Given the description of an element on the screen output the (x, y) to click on. 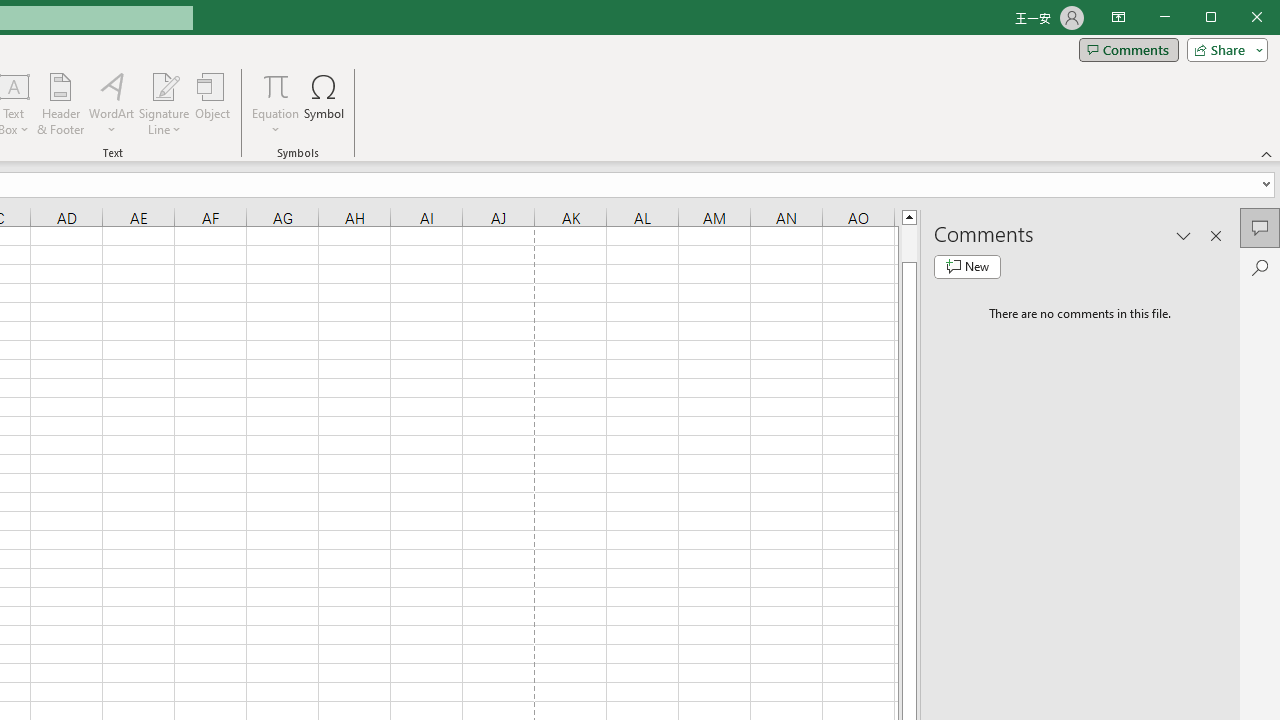
Equation (275, 86)
Collapse the Ribbon (1267, 154)
WordArt (111, 104)
Signature Line (164, 86)
Symbol... (324, 104)
Page up (909, 243)
New comment (967, 266)
Task Pane Options (1183, 235)
Maximize (1239, 18)
Minimize (1217, 18)
